Given the description of an element on the screen output the (x, y) to click on. 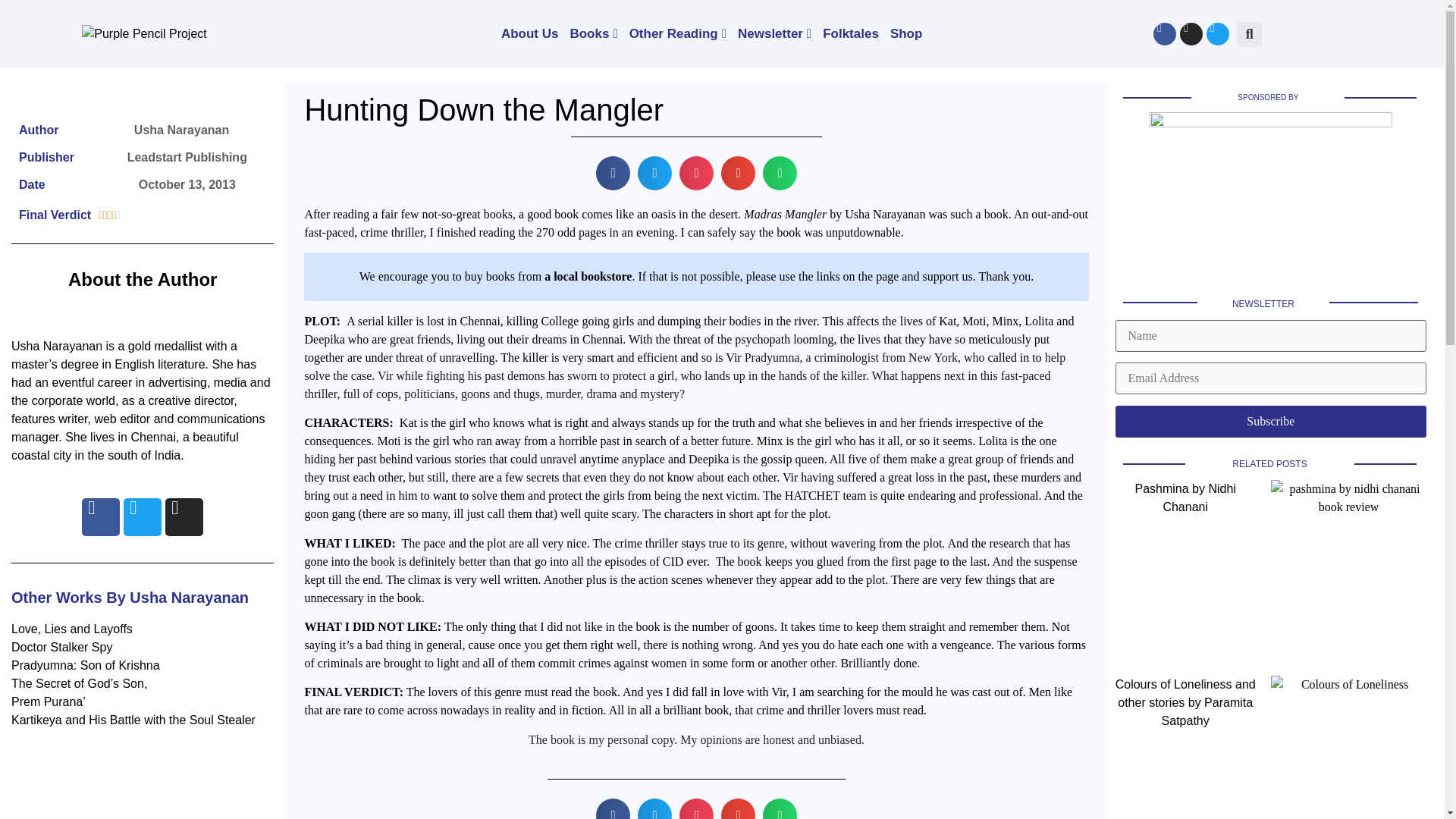
About Us (529, 33)
Other Reading (677, 33)
Books (593, 33)
Subscribe (1270, 421)
Newsletter (774, 33)
Folktales (850, 33)
Shop (906, 33)
